Given the description of an element on the screen output the (x, y) to click on. 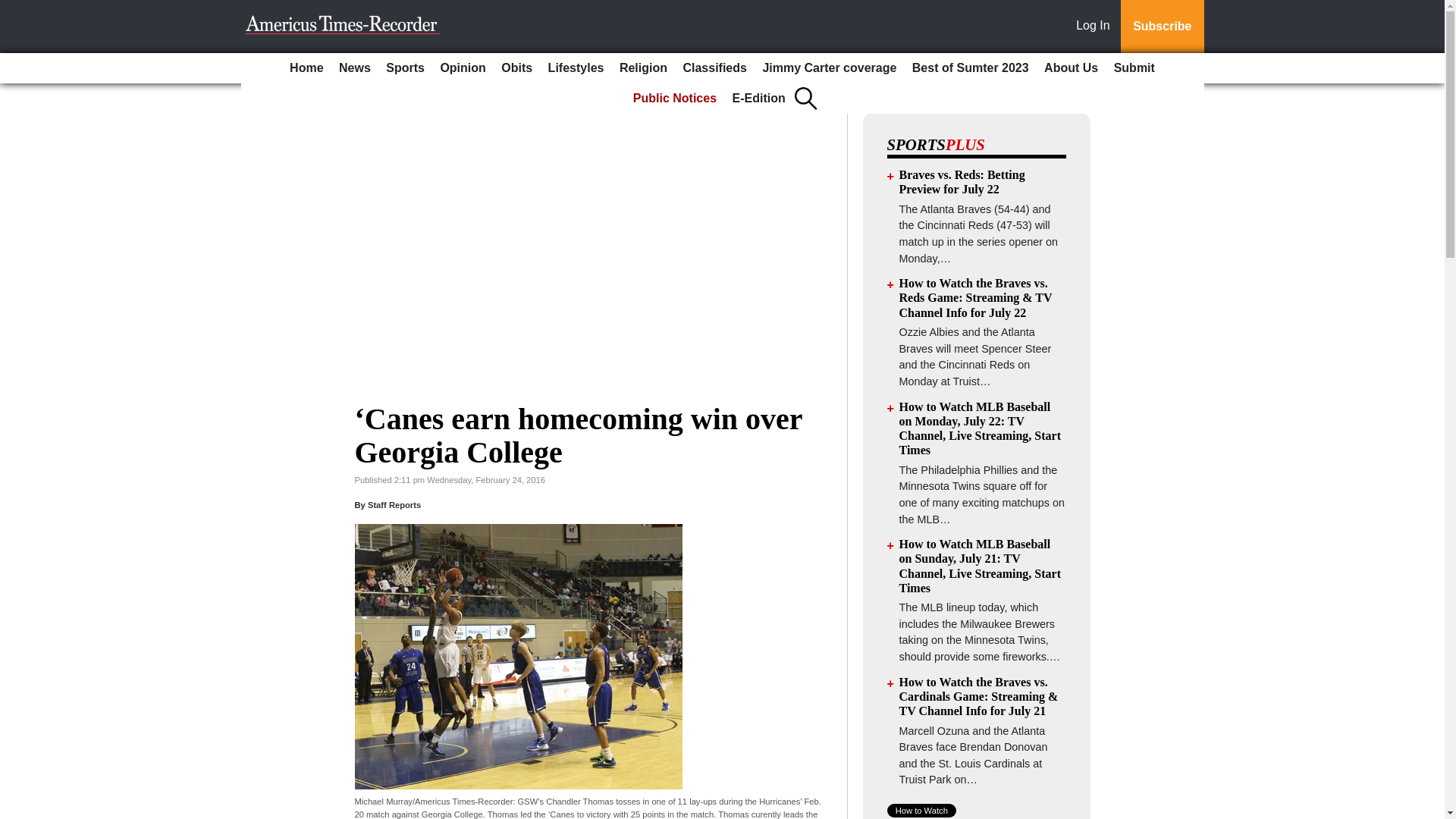
Go (13, 9)
Religion (642, 68)
E-Edition (759, 98)
Obits (516, 68)
Staff Reports (394, 504)
News (355, 68)
Home (306, 68)
Braves vs. Reds: Betting Preview for July 22 (962, 181)
Sports (405, 68)
Best of Sumter 2023 (970, 68)
Log In (1095, 26)
Subscribe (1162, 26)
How to Watch (921, 810)
